Given the description of an element on the screen output the (x, y) to click on. 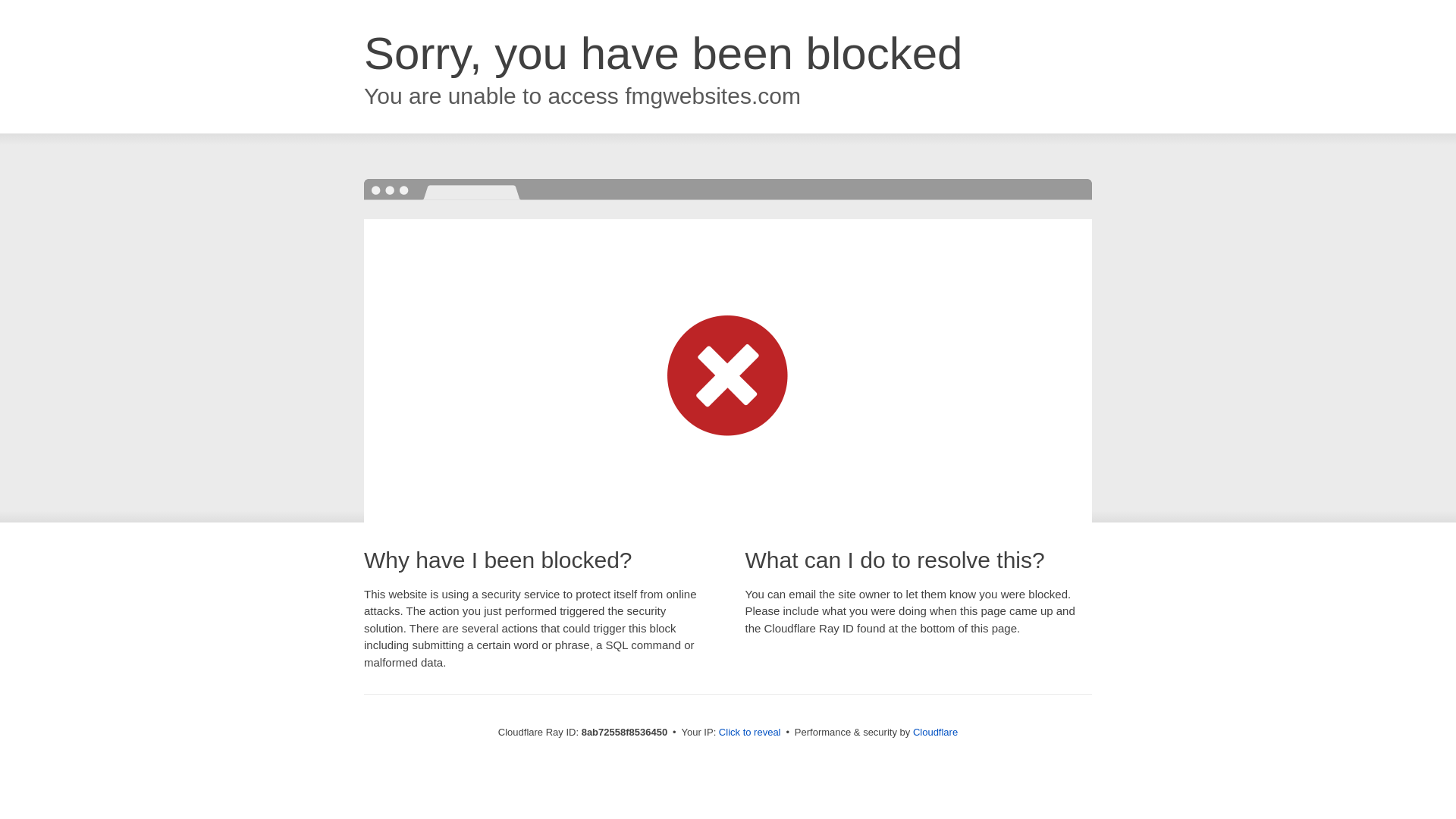
Cloudflare (935, 731)
Click to reveal (749, 732)
